Given the description of an element on the screen output the (x, y) to click on. 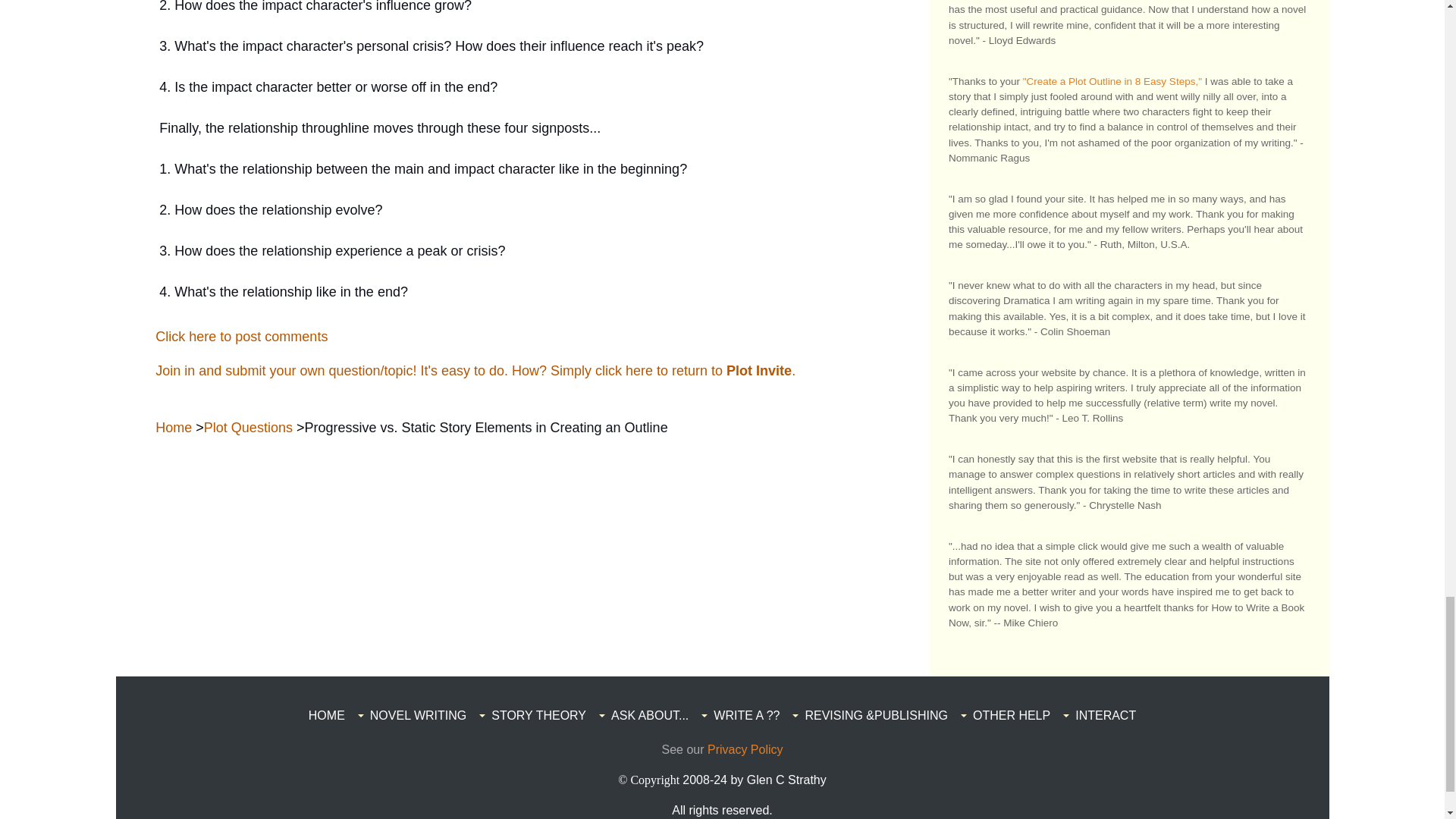
Home (173, 427)
Click here to post comments (241, 336)
Plot Questions (247, 427)
